Given the description of an element on the screen output the (x, y) to click on. 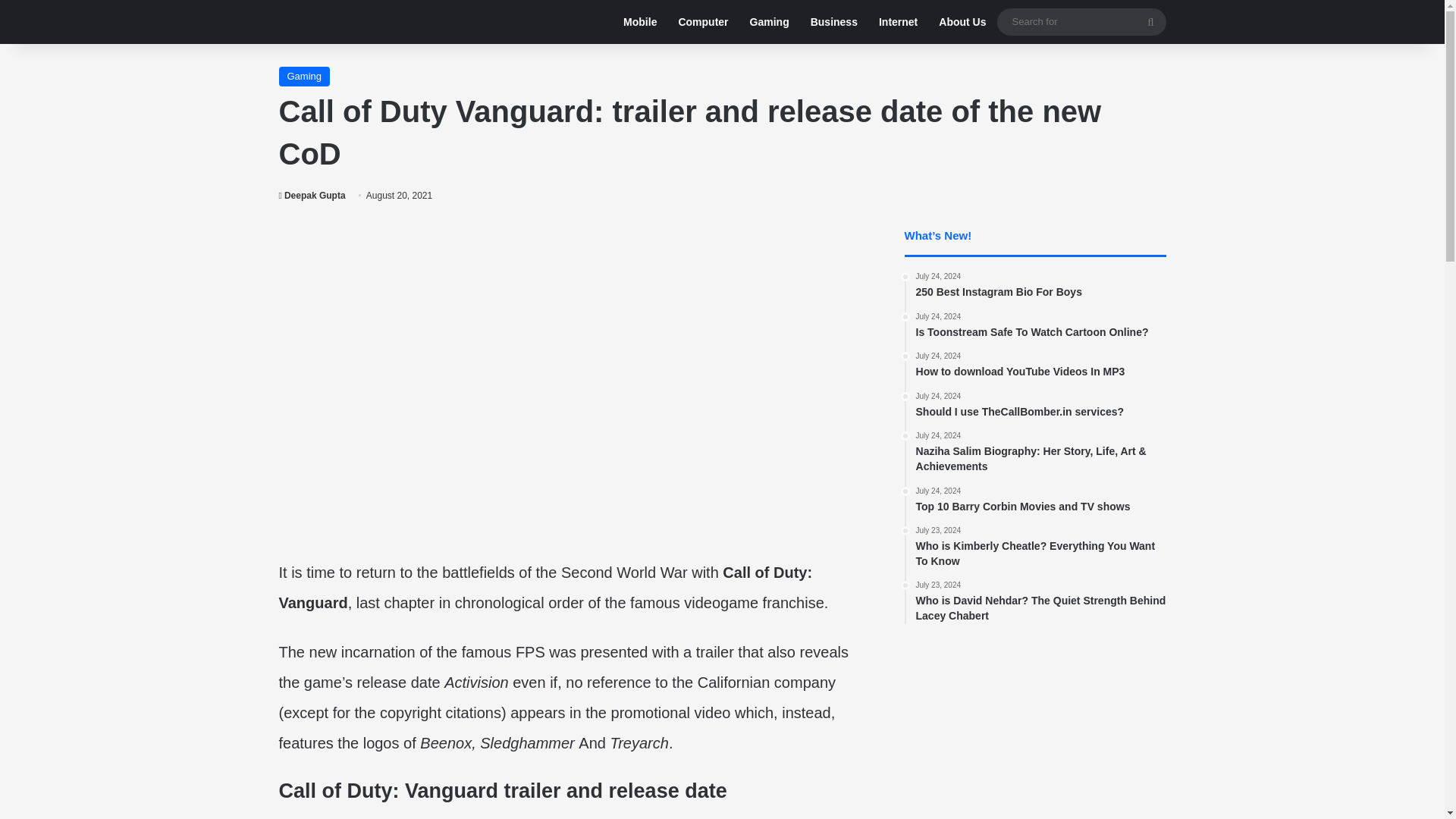
Deepak Gupta (312, 195)
Mobile (639, 22)
Gaming (769, 22)
Search for (1150, 22)
Search for (1080, 21)
Gaming (304, 76)
Deepak Gupta (1040, 406)
Business (312, 195)
Internet (833, 22)
About Us (897, 22)
Computer (1040, 500)
